Given the description of an element on the screen output the (x, y) to click on. 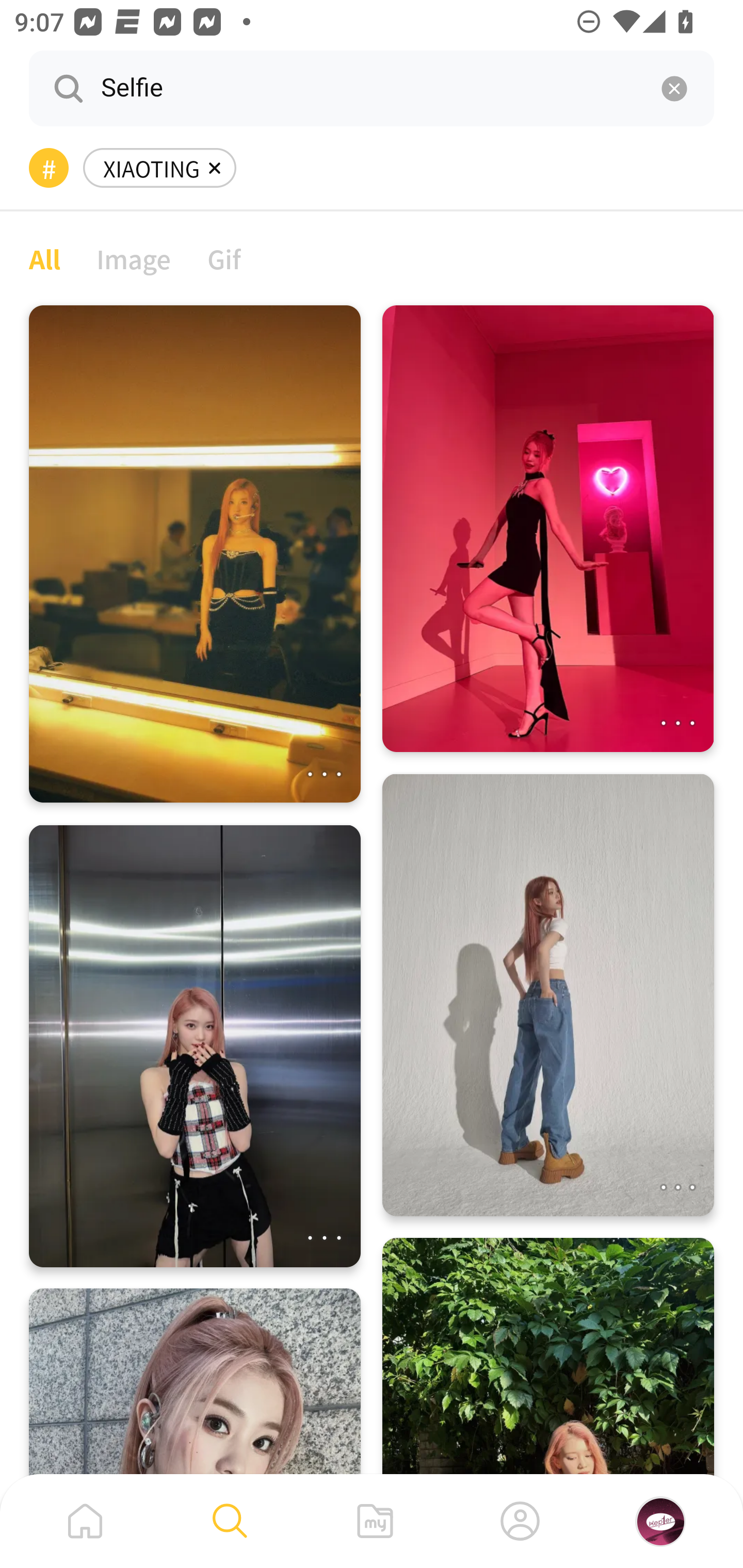
All (44, 257)
Image (133, 257)
Gif (223, 257)
